Given the description of an element on the screen output the (x, y) to click on. 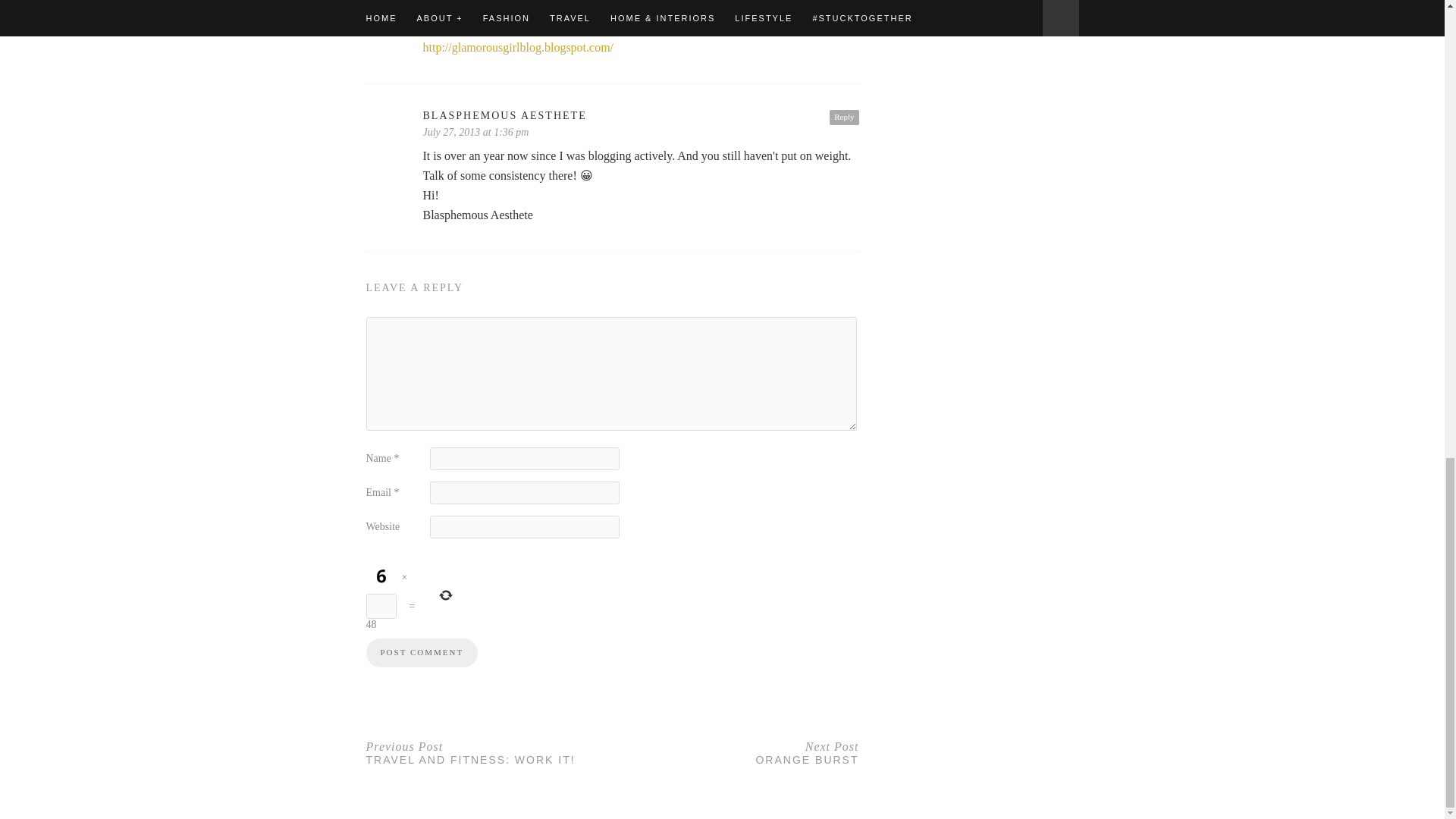
Post Comment (421, 652)
Reply (488, 752)
BLASPHEMOUS AESTHETE (735, 752)
Post Comment (844, 117)
